Given the description of an element on the screen output the (x, y) to click on. 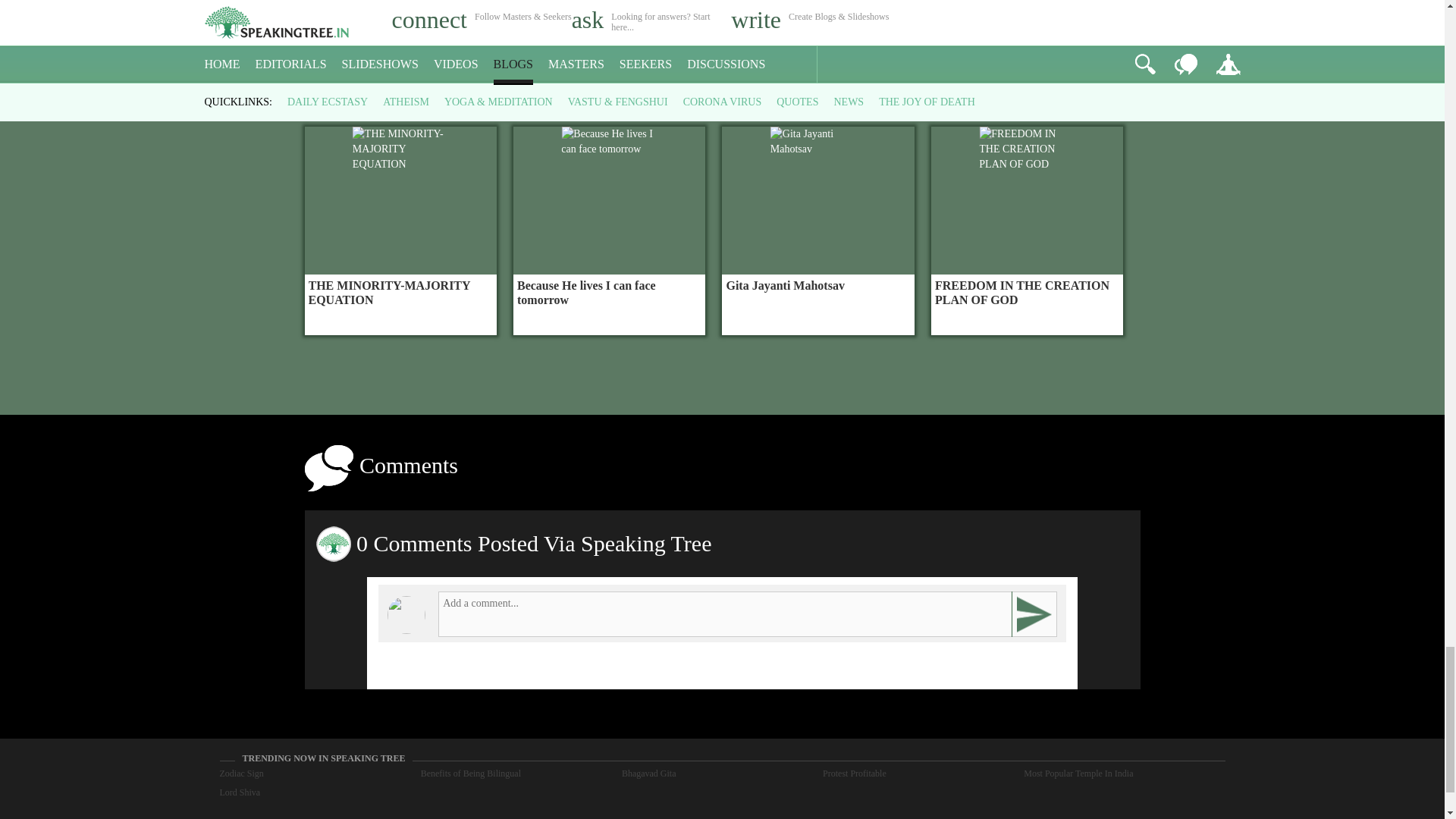
RESULT-ORIENTED ACTION (609, 26)
The Key to Success (400, 26)
Success....The Other End Of Failure (818, 26)
The art of acceptance and happiness (1026, 26)
